Given the description of an element on the screen output the (x, y) to click on. 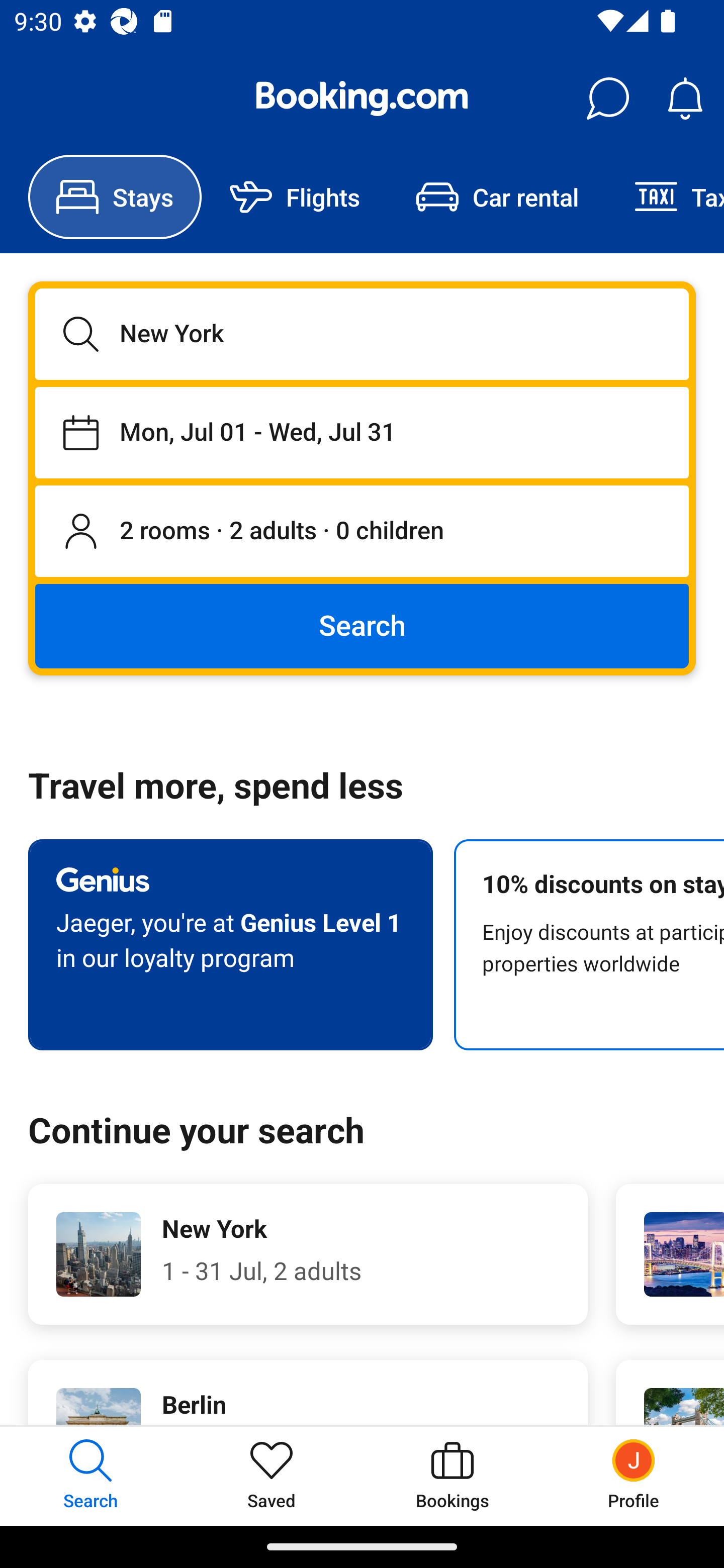
Messages (607, 98)
Notifications (685, 98)
Stays (114, 197)
Flights (294, 197)
Car rental (497, 197)
Taxi (665, 197)
New York (361, 333)
Staying from Mon, Jul 01 until Wed, Jul 31 (361, 432)
2 rooms, 2 adults, 0 children (361, 531)
Search (361, 625)
New York 1 - 31 Jul, 2 adults (307, 1253)
Saved (271, 1475)
Bookings (452, 1475)
Profile (633, 1475)
